Given the description of an element on the screen output the (x, y) to click on. 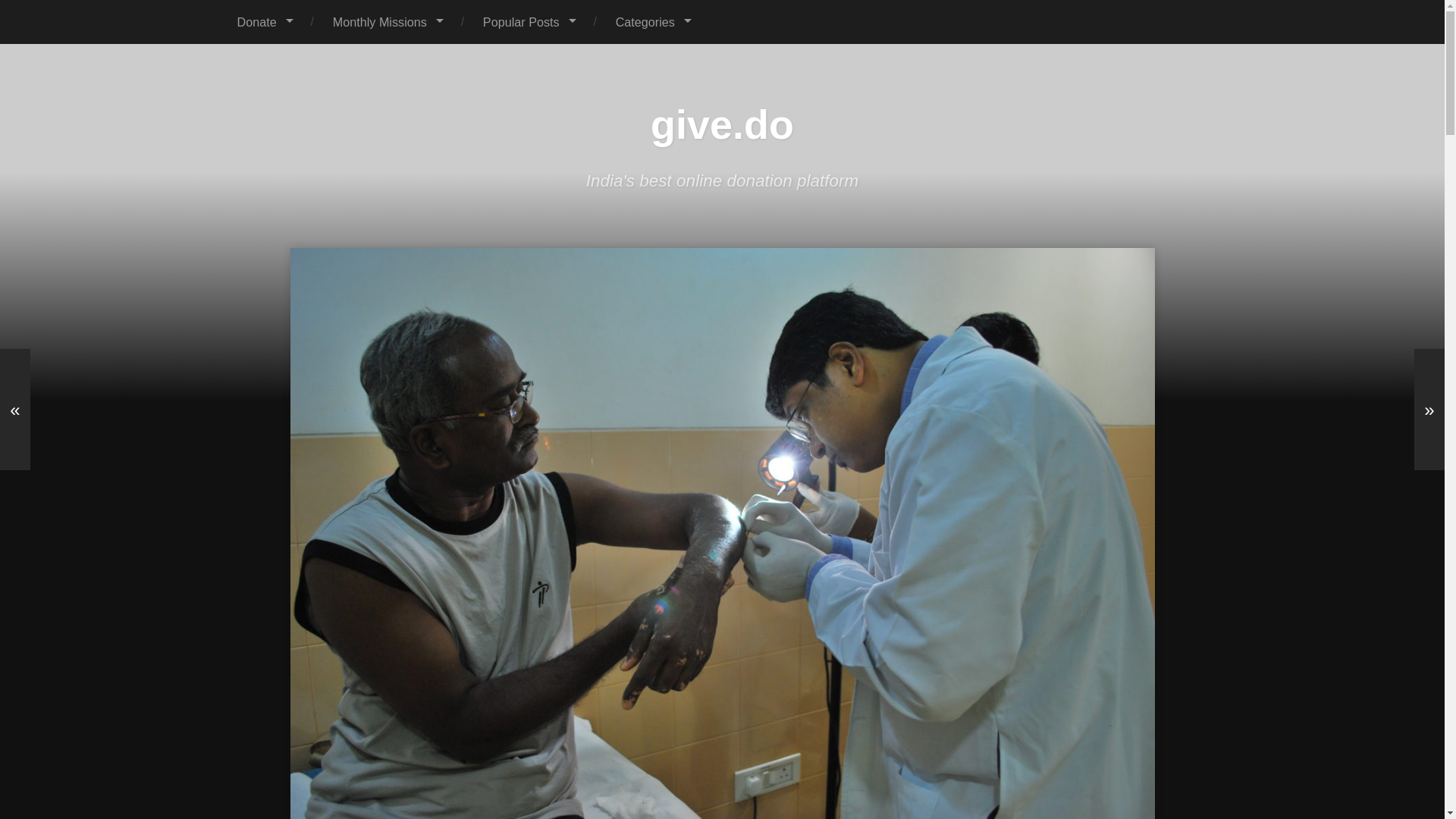
Monthly Missions (388, 22)
Categories (652, 22)
Donate (264, 22)
Popular Posts (529, 22)
